Given the description of an element on the screen output the (x, y) to click on. 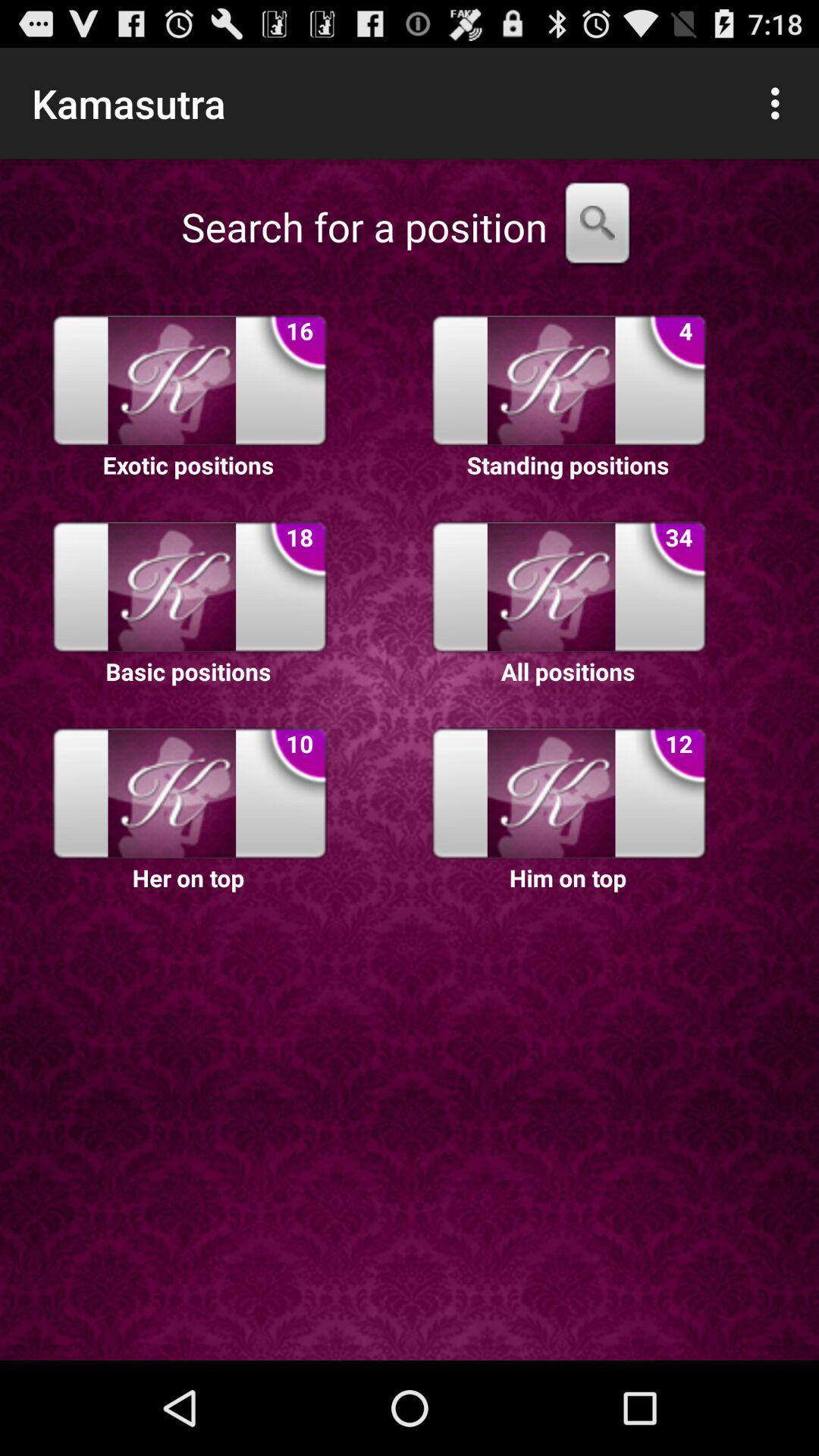
search (597, 226)
